Given the description of an element on the screen output the (x, y) to click on. 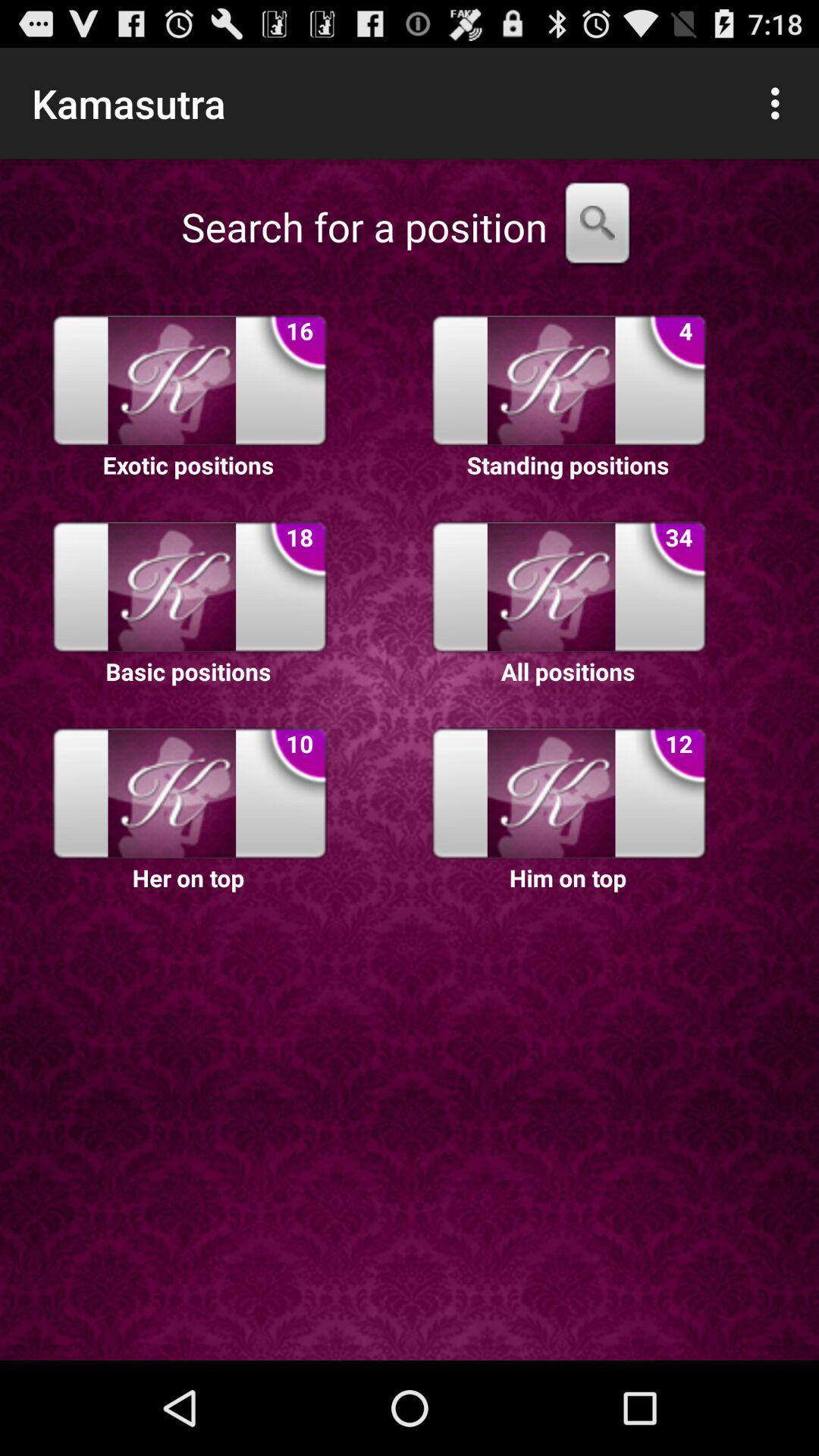
search (597, 226)
